Given the description of an element on the screen output the (x, y) to click on. 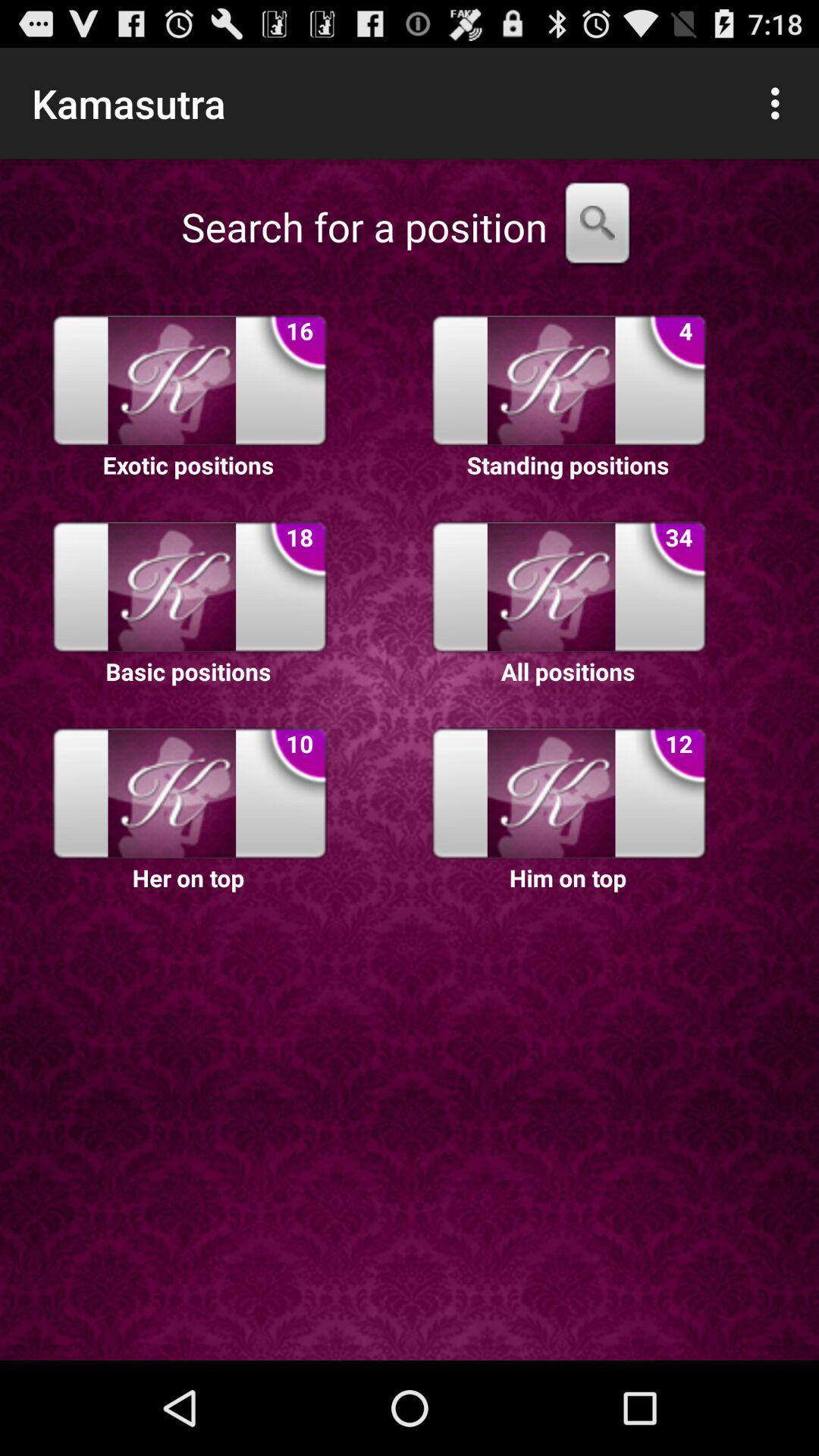
search (597, 226)
